Given the description of an element on the screen output the (x, y) to click on. 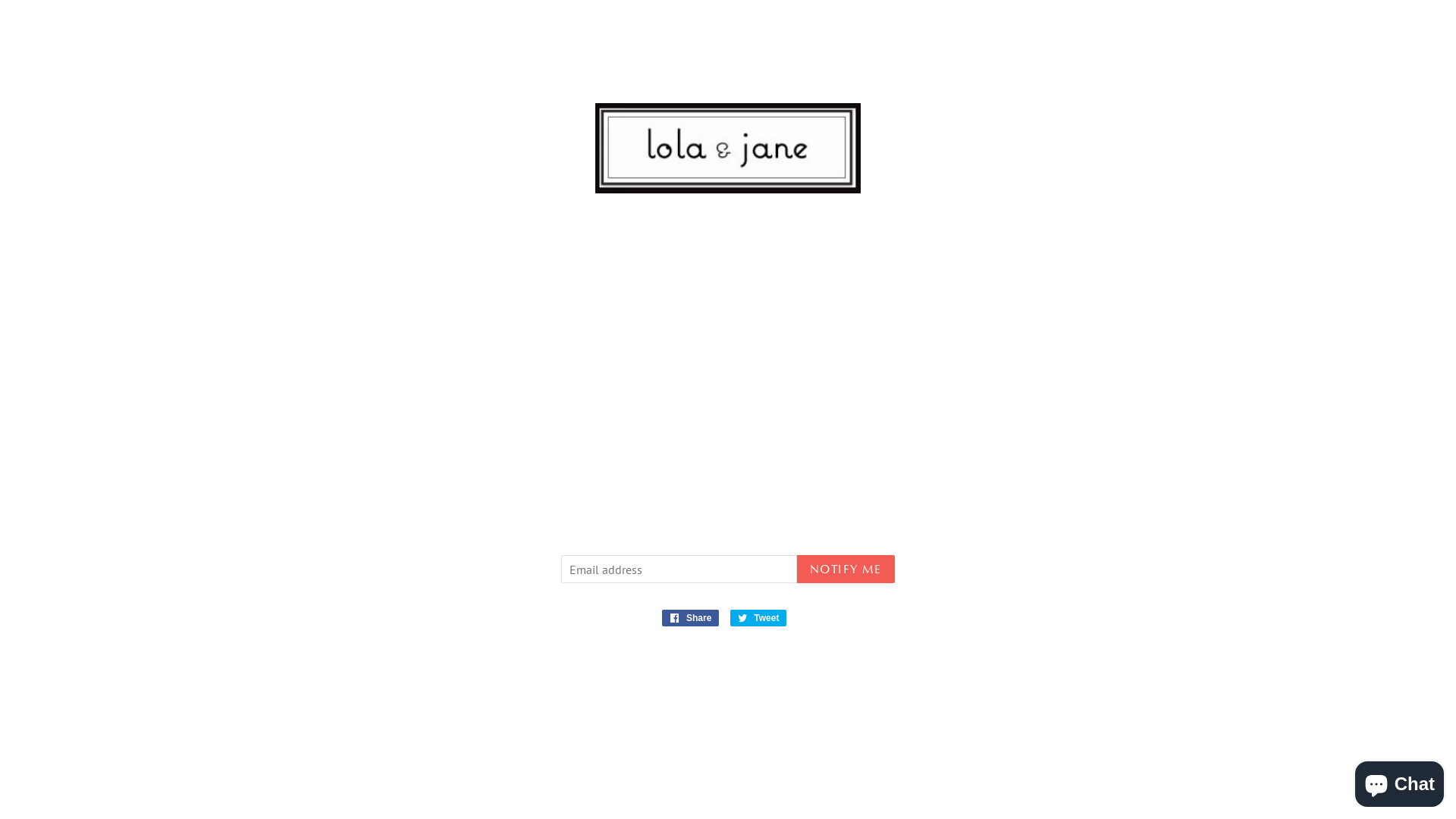
Tweet
Tweet on Twitter Element type: text (758, 617)
Shopify logo
Shopify Element type: text (799, 786)
Shopify online store chat Element type: hover (1399, 780)
Lock icon Enter using password Element type: text (1375, 29)
NOTIFY ME Element type: text (845, 569)
Share
Share on Facebook Element type: text (690, 617)
